Given the description of an element on the screen output the (x, y) to click on. 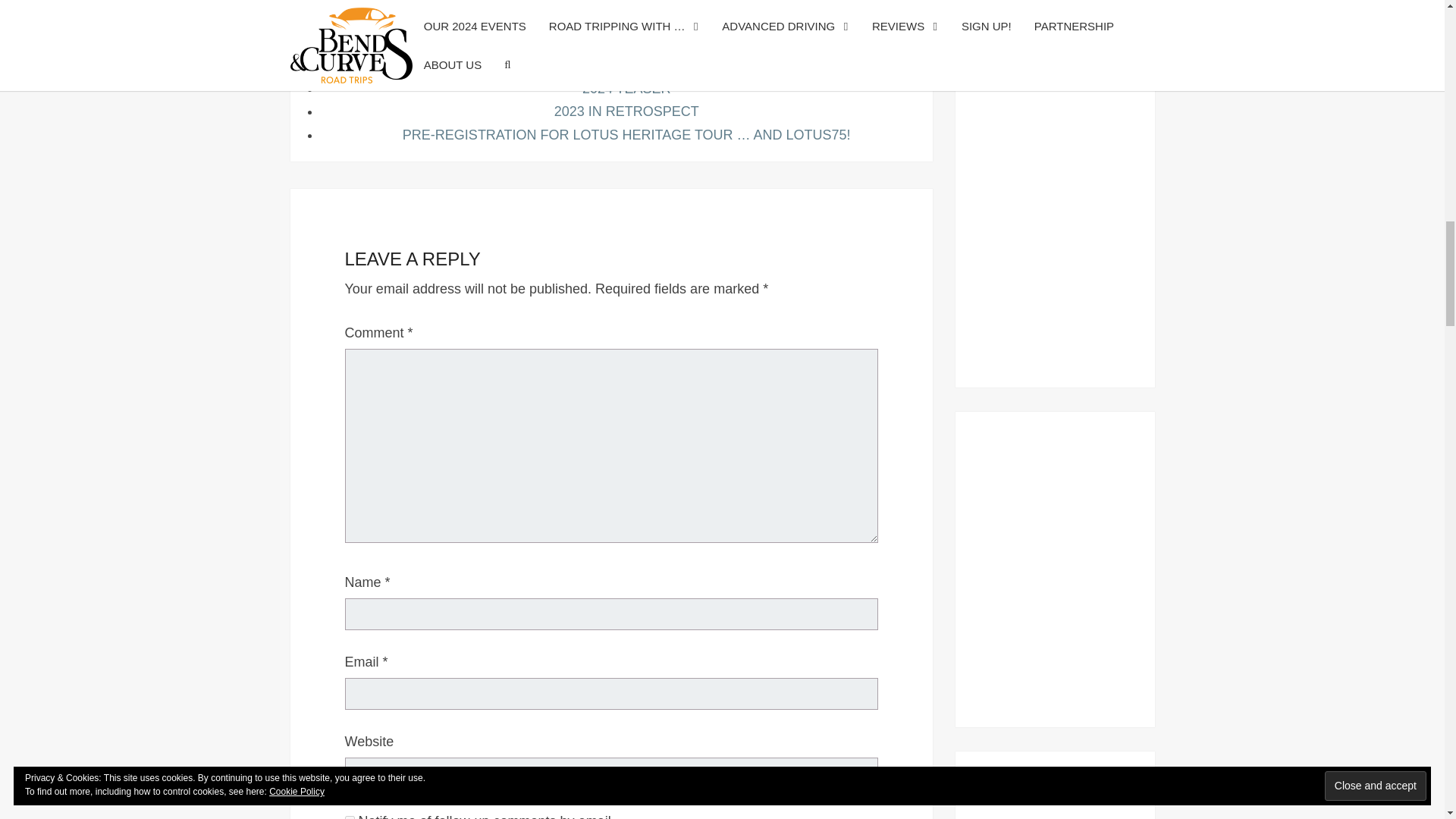
subscribe (348, 817)
2024 TEASER (626, 88)
Opening of registration for Alpine Roads 2024 (625, 64)
2023 IN RETROSPECT (626, 111)
